Given the description of an element on the screen output the (x, y) to click on. 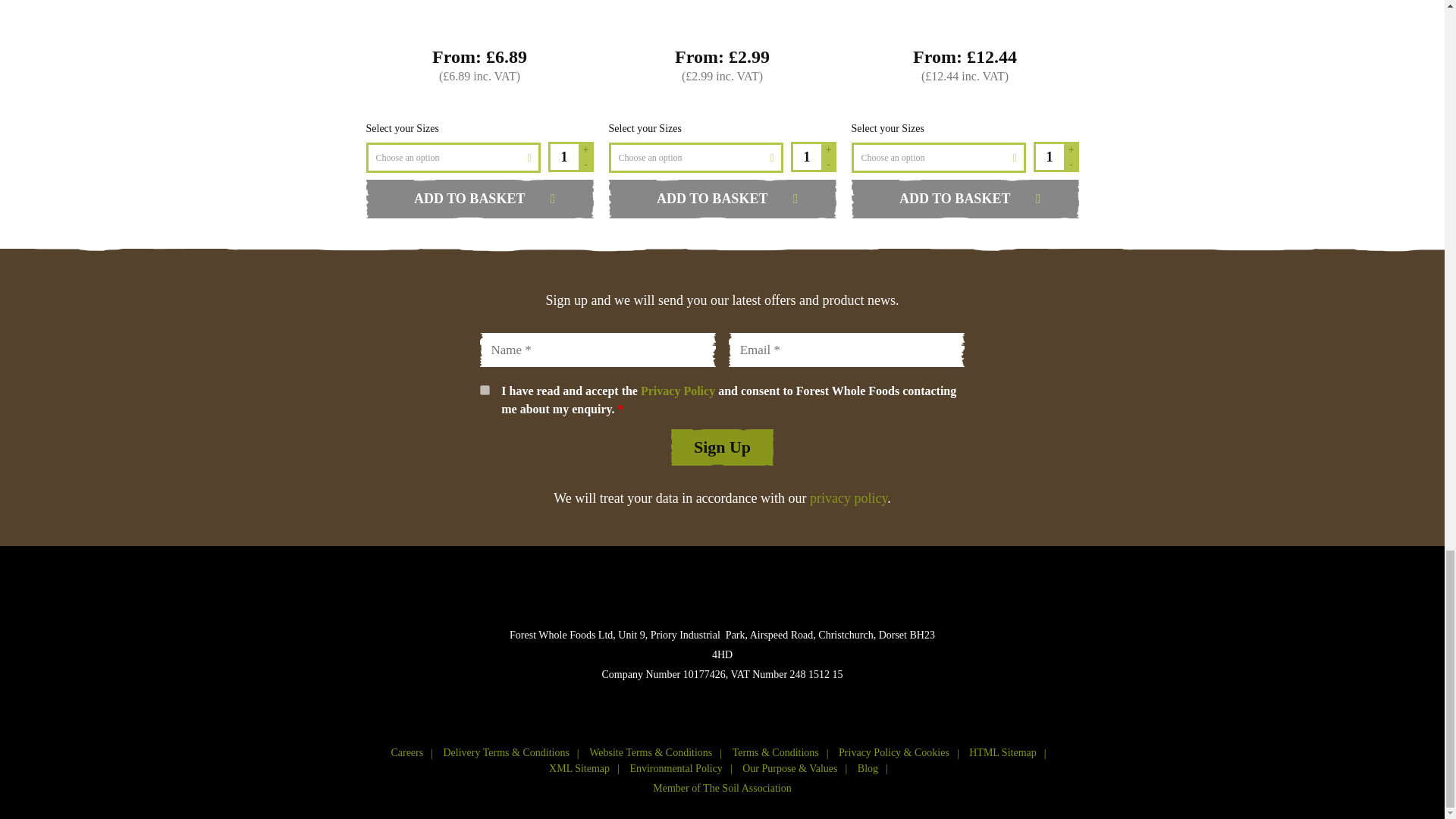
- (585, 164)
1 (562, 156)
Qty (1047, 156)
Qty (562, 156)
- (1070, 164)
1 (1047, 156)
1 (805, 156)
Qty (805, 156)
Sign Up (722, 447)
1 (484, 389)
- (828, 164)
